Given the description of an element on the screen output the (x, y) to click on. 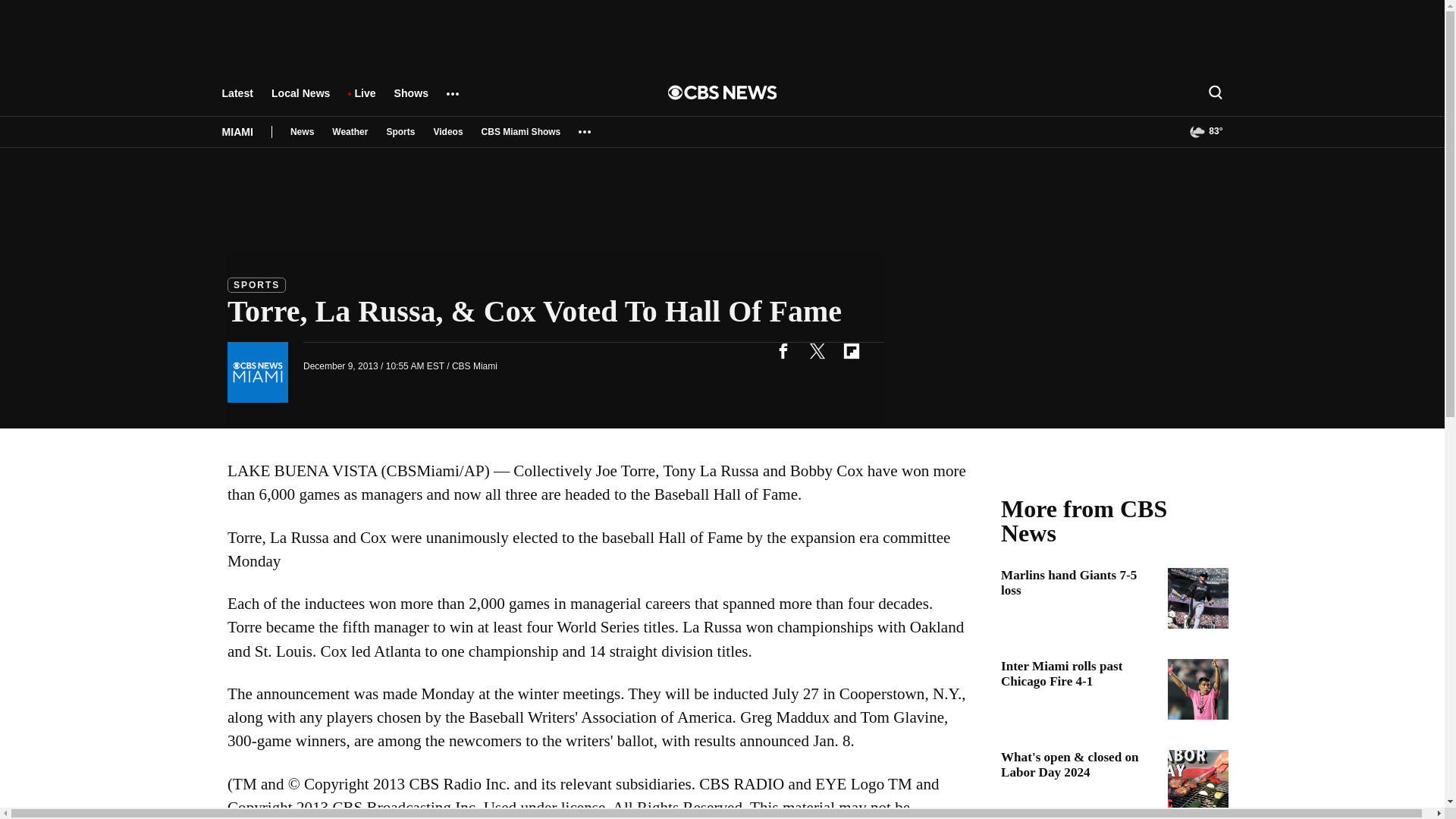
Local News (300, 100)
facebook (782, 350)
twitter (816, 350)
flipboard (850, 350)
Latest (236, 100)
